Given the description of an element on the screen output the (x, y) to click on. 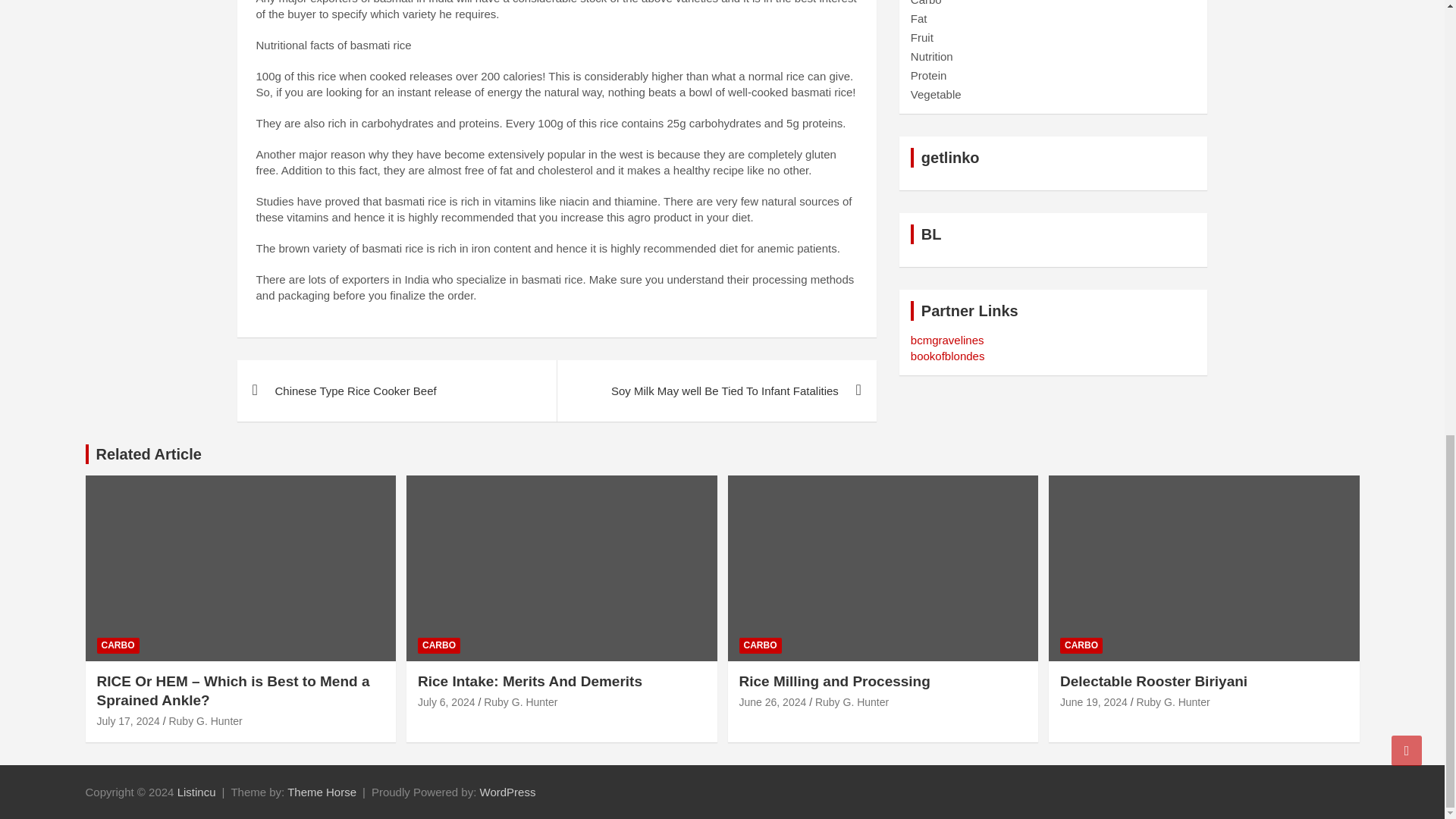
bcmgravelines (947, 339)
Related Article (148, 453)
Fruit (922, 37)
Protein (929, 74)
bookofblondes (948, 355)
WordPress (507, 791)
Listincu (196, 791)
Rice Milling and Processing (772, 702)
CARBO (118, 645)
Rice Intake: Merits And Demerits (446, 702)
